Given the description of an element on the screen output the (x, y) to click on. 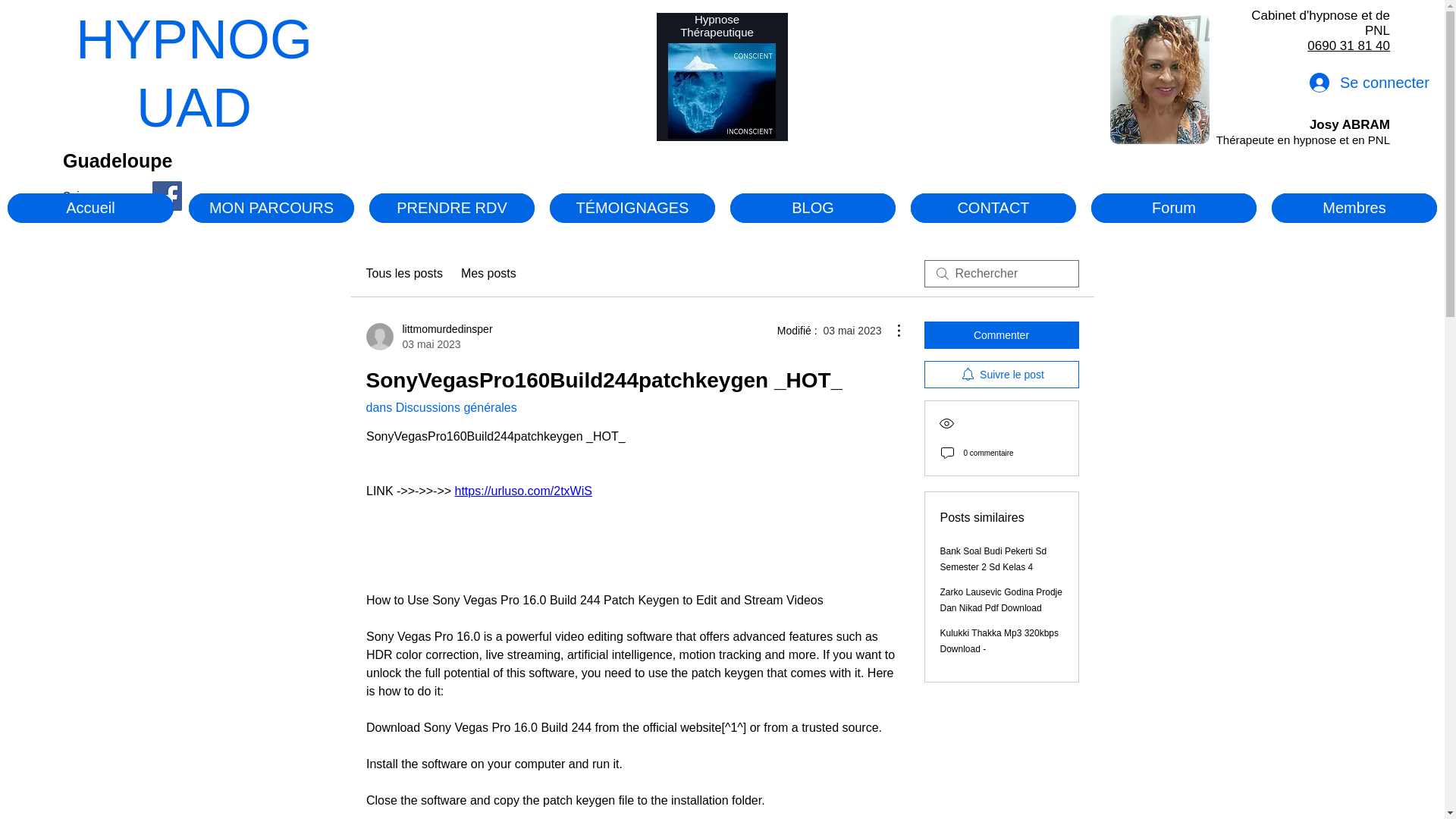
Commenter (1000, 334)
Se connecter (1344, 81)
Zarko Lausevic Godina Prodje Dan Nikad Pdf Download (1001, 600)
Bank Soal Budi Pekerti Sd Semester 2 Sd Kelas 4 (993, 559)
Kulukki Thakka Mp3 320kbps Download - (999, 641)
Membres (1354, 207)
Forum (428, 336)
CONTACT (1173, 207)
Suivre le post (993, 207)
MON PARCOURS (1000, 374)
PRENDRE RDV (271, 207)
BLOG (451, 207)
Guadeloupe (812, 207)
Tous les posts (116, 160)
